Given the description of an element on the screen output the (x, y) to click on. 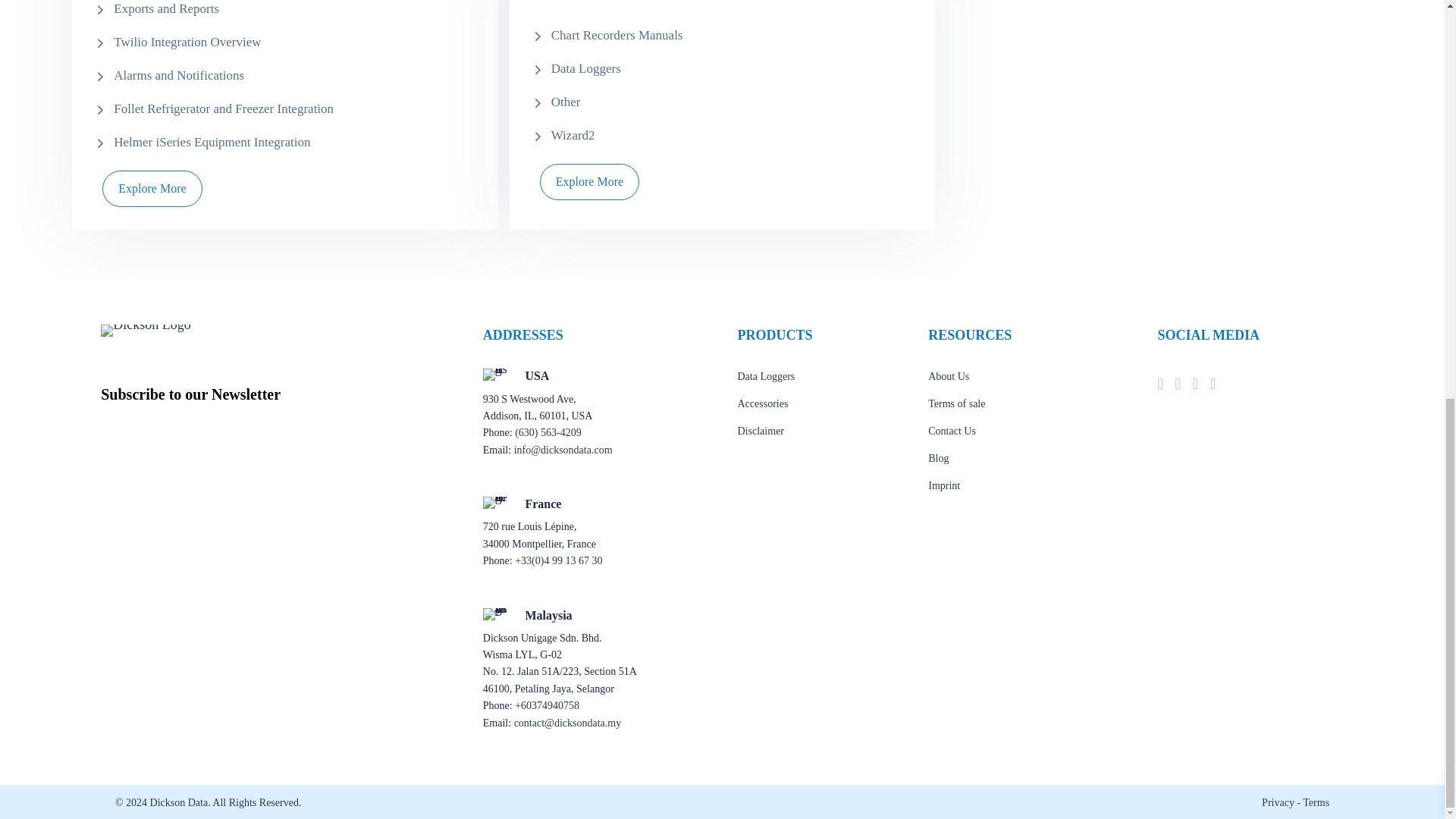
united-states (494, 374)
malaysia (494, 613)
Dickson Logo (145, 330)
France (494, 502)
